Given the description of an element on the screen output the (x, y) to click on. 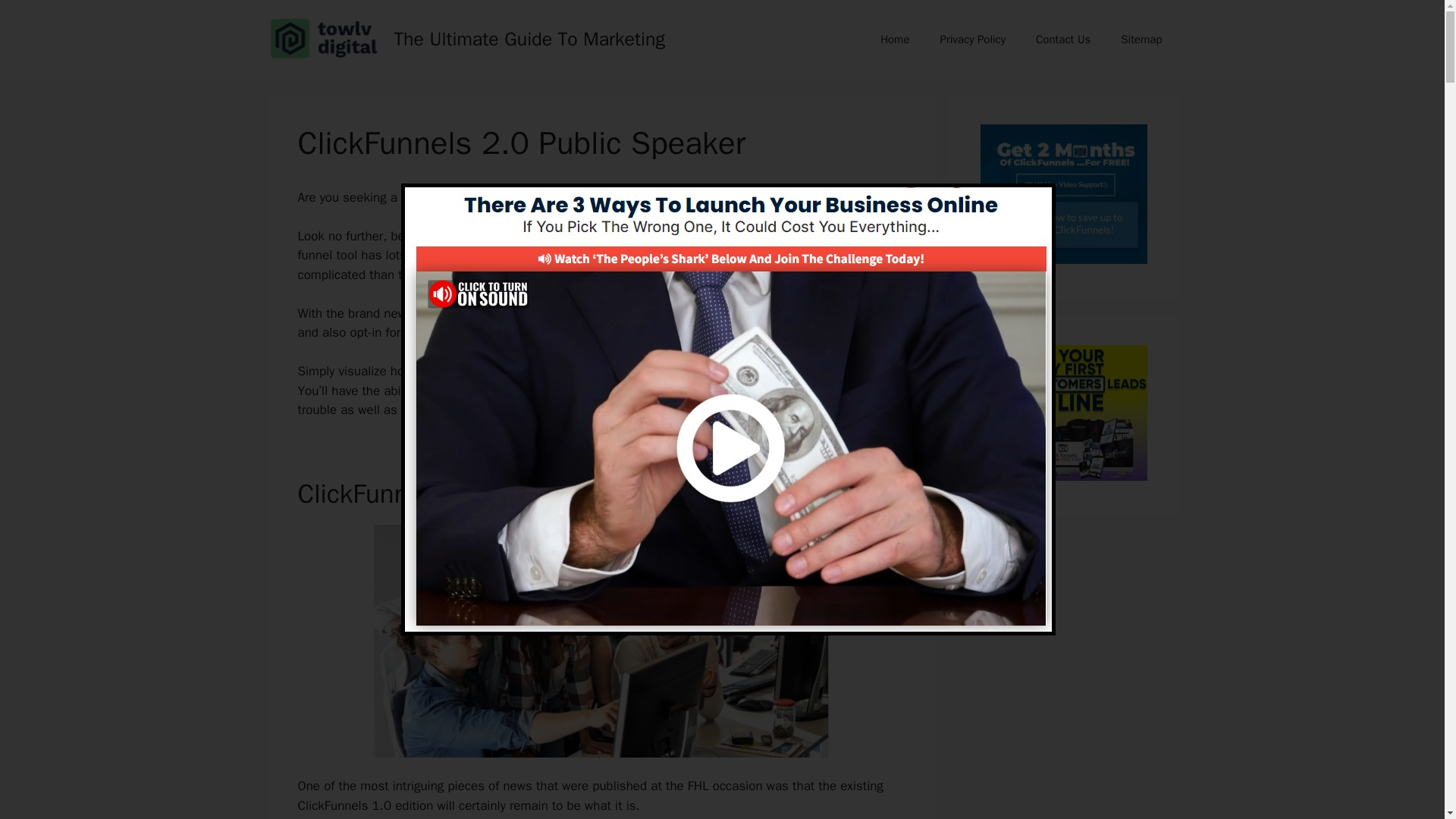
Home (894, 39)
Contact Us (1062, 39)
Privacy Policy (972, 39)
The Ultimate Guide To Marketing (529, 38)
Sitemap (1140, 39)
